Given the description of an element on the screen output the (x, y) to click on. 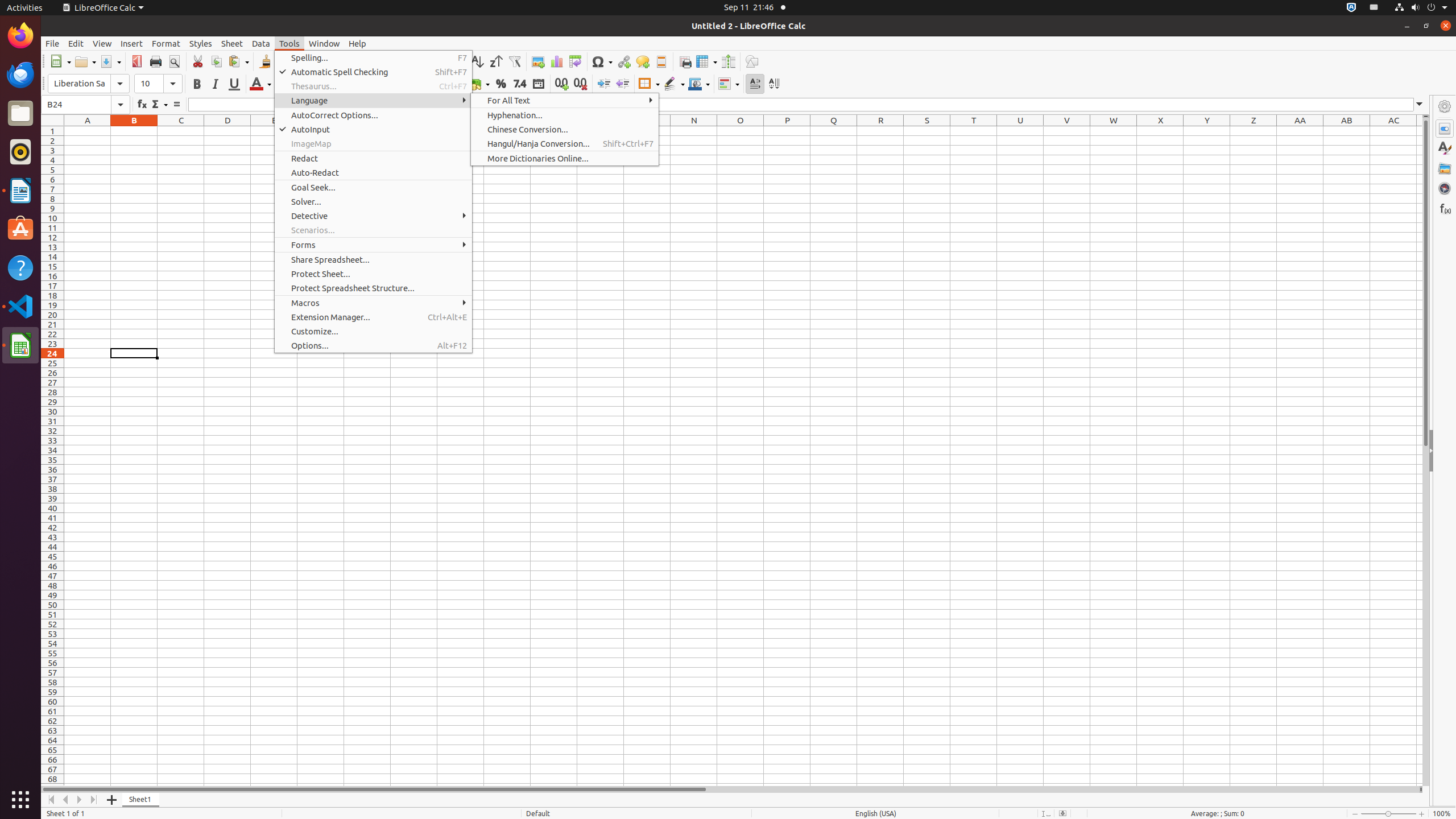
Font Size Element type: combo-box (158, 83)
AutoFilter Element type: push-button (514, 61)
B1 Element type: table-cell (133, 130)
Font Size Element type: panel (158, 83)
